Given the description of an element on the screen output the (x, y) to click on. 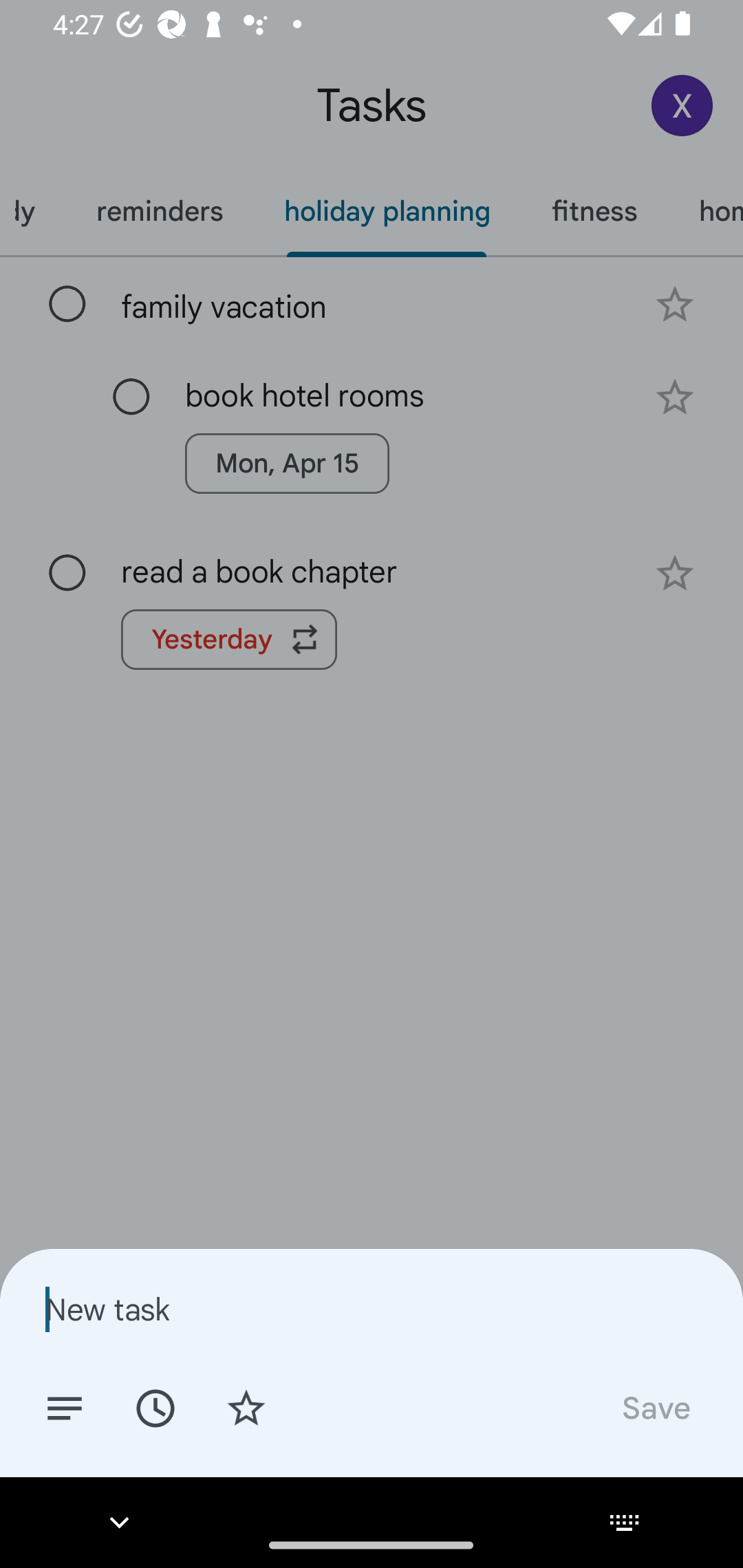
New task (371, 1308)
Save (655, 1407)
Add details (64, 1407)
Set date/time (154, 1407)
Add star (245, 1407)
